Given the description of an element on the screen output the (x, y) to click on. 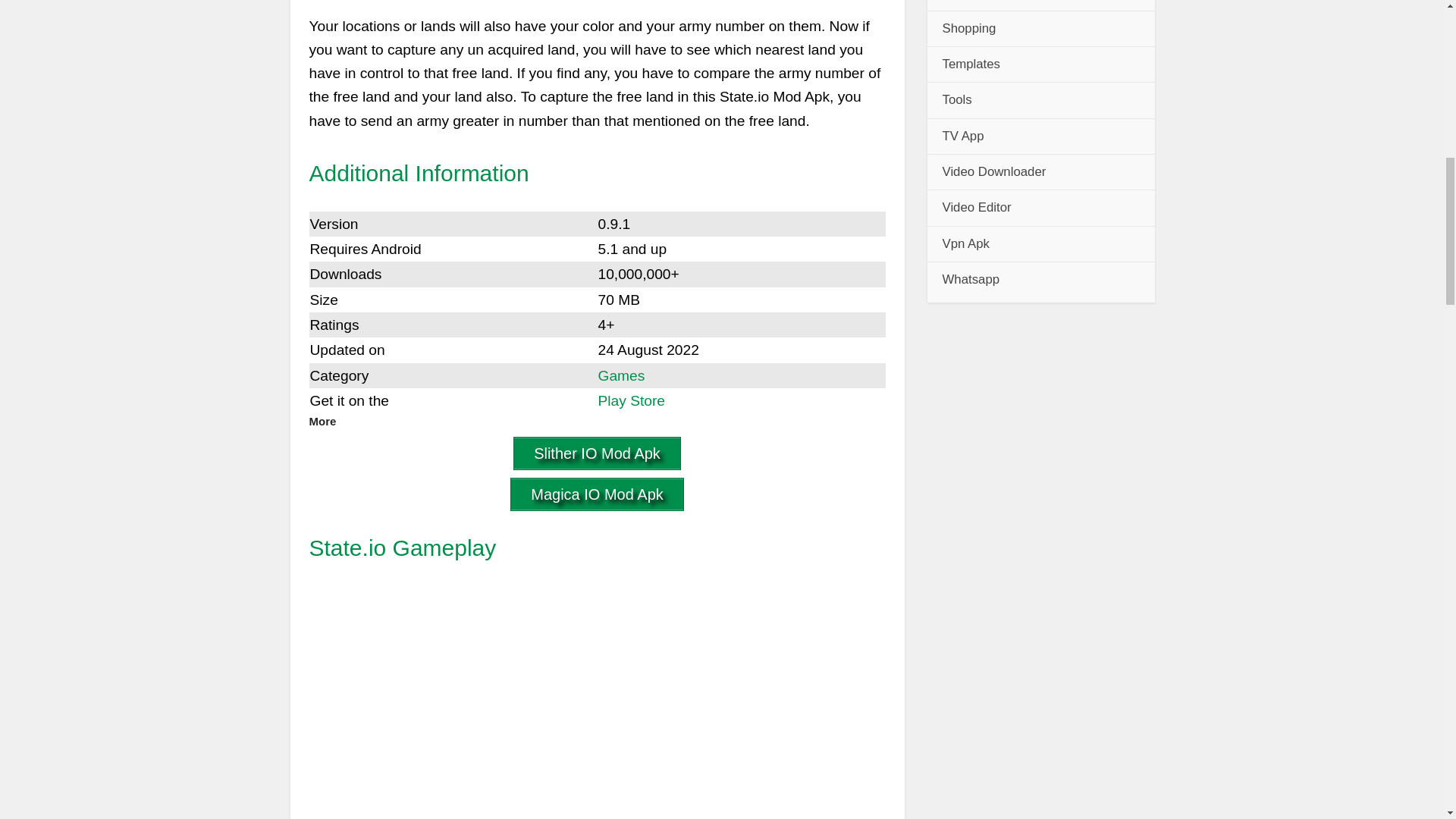
Magica IO Mod Apk (597, 494)
Games (620, 375)
Slither IO Mod Apk (597, 453)
Play Store (630, 400)
